Given the description of an element on the screen output the (x, y) to click on. 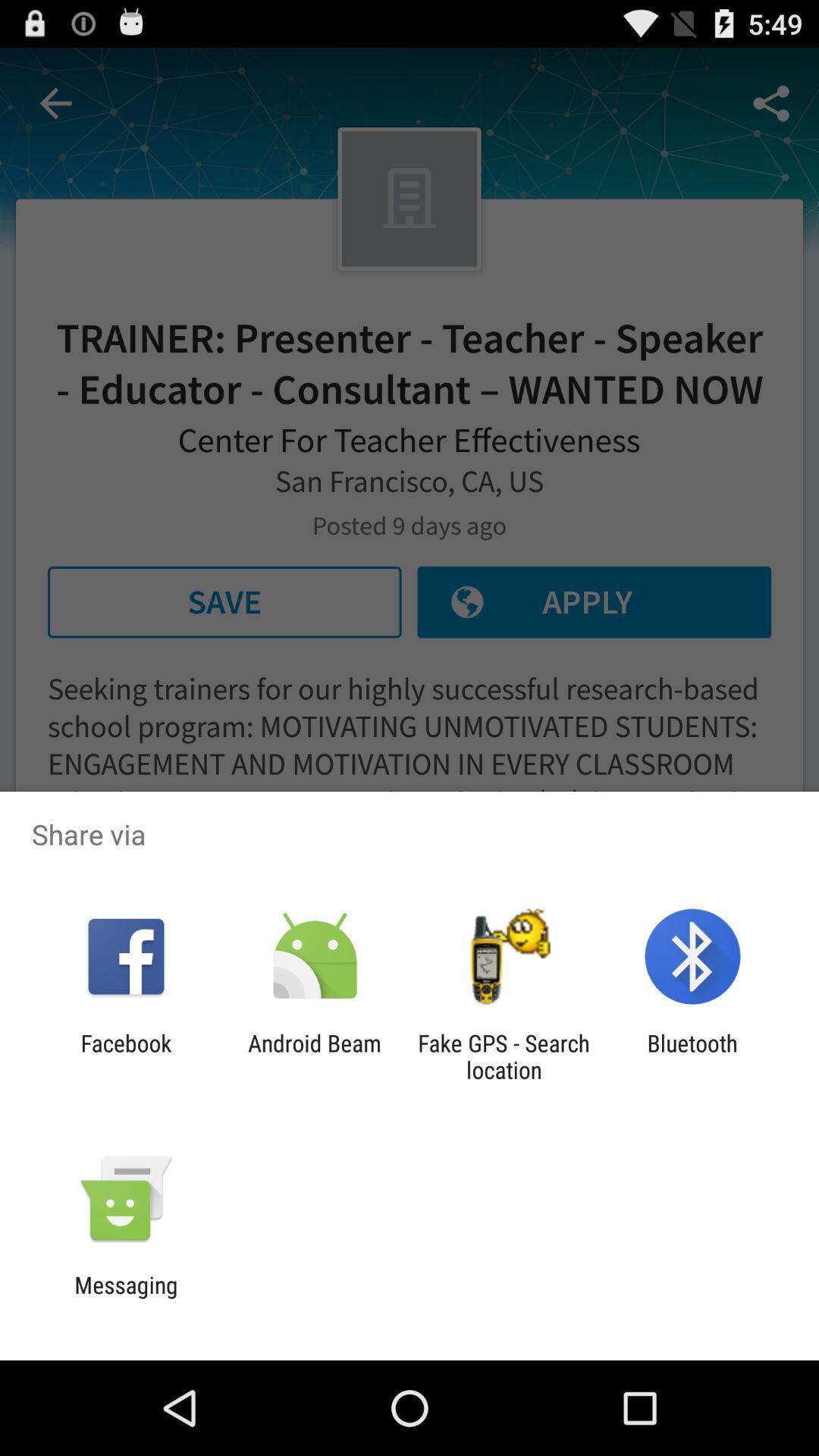
click the item to the left of the android beam icon (125, 1056)
